Given the description of an element on the screen output the (x, y) to click on. 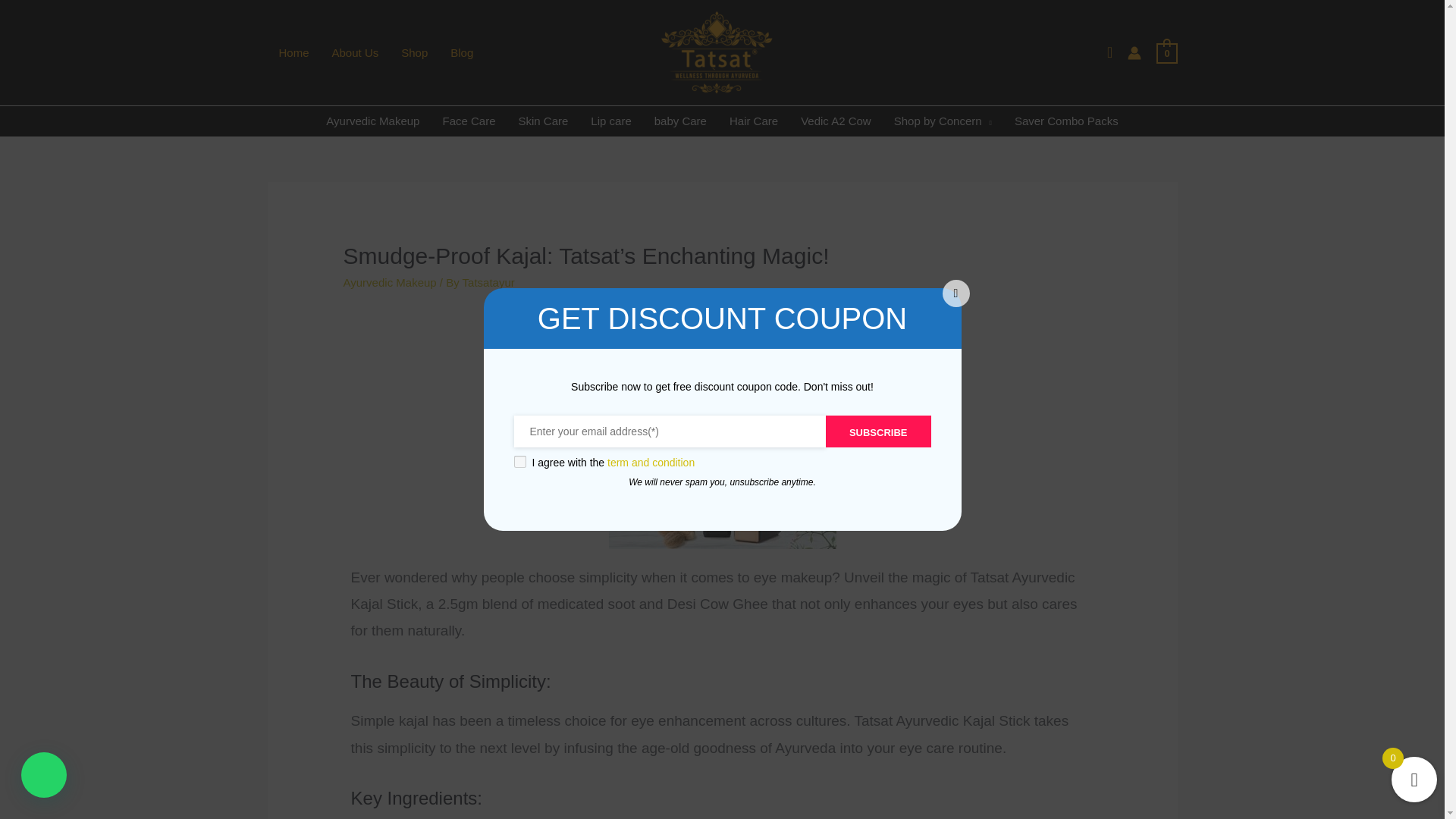
Skin Care (542, 121)
View your shopping cart (1166, 51)
Shop (414, 51)
Blog (461, 51)
Vedic A2 Cow (835, 121)
Hair Care (753, 121)
Saver Combo Packs (1066, 121)
Shop by Concern (942, 121)
Home (293, 51)
Face Care (468, 121)
Lip care (610, 121)
0 (1166, 51)
on (519, 461)
About Us (355, 51)
View all posts by Tatsatayur (489, 282)
